Given the description of an element on the screen output the (x, y) to click on. 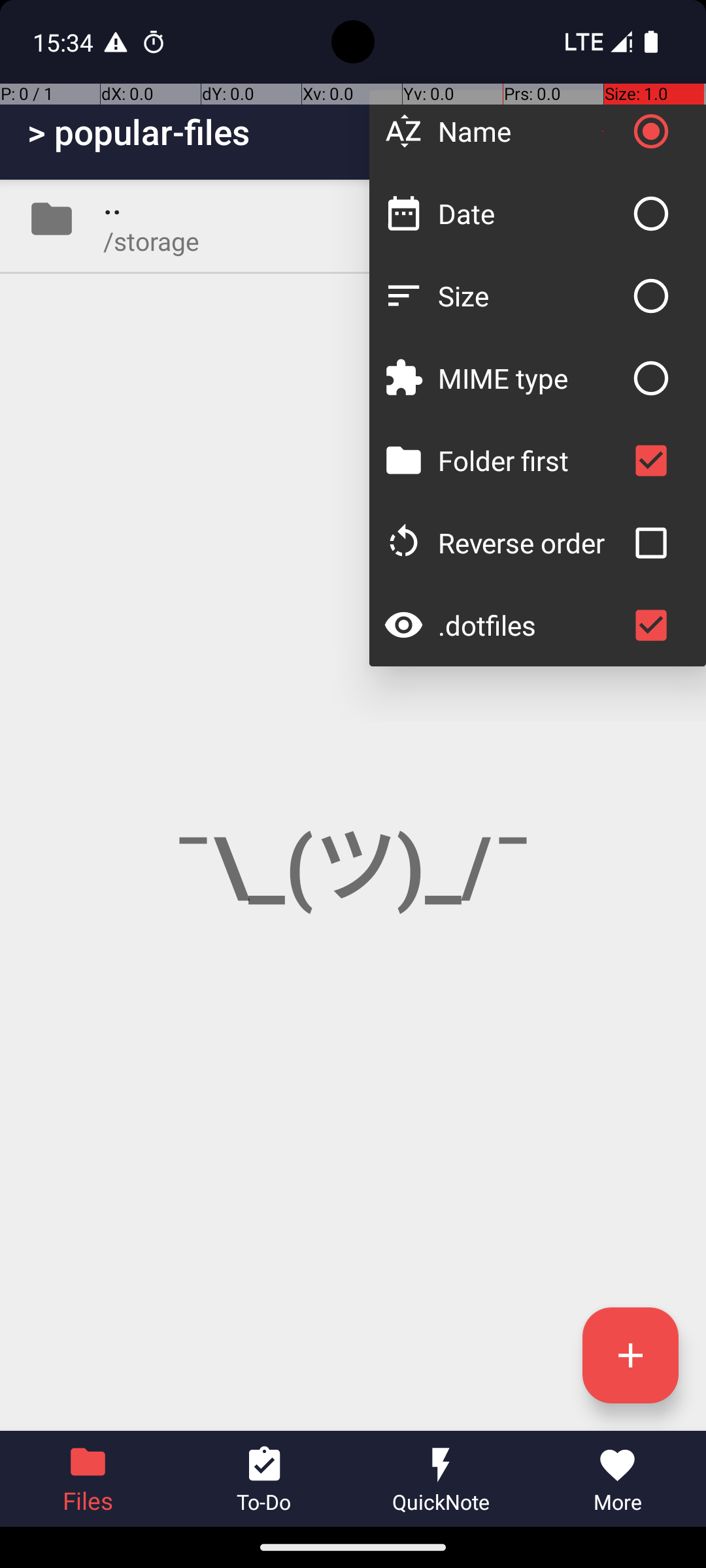
Size Element type: android.widget.TextView (530, 295)
MIME type Element type: android.widget.TextView (530, 377)
Folder first Element type: android.widget.TextView (530, 459)
Reverse order Element type: android.widget.TextView (530, 542)
.dotfiles Element type: android.widget.TextView (530, 624)
